Given the description of an element on the screen output the (x, y) to click on. 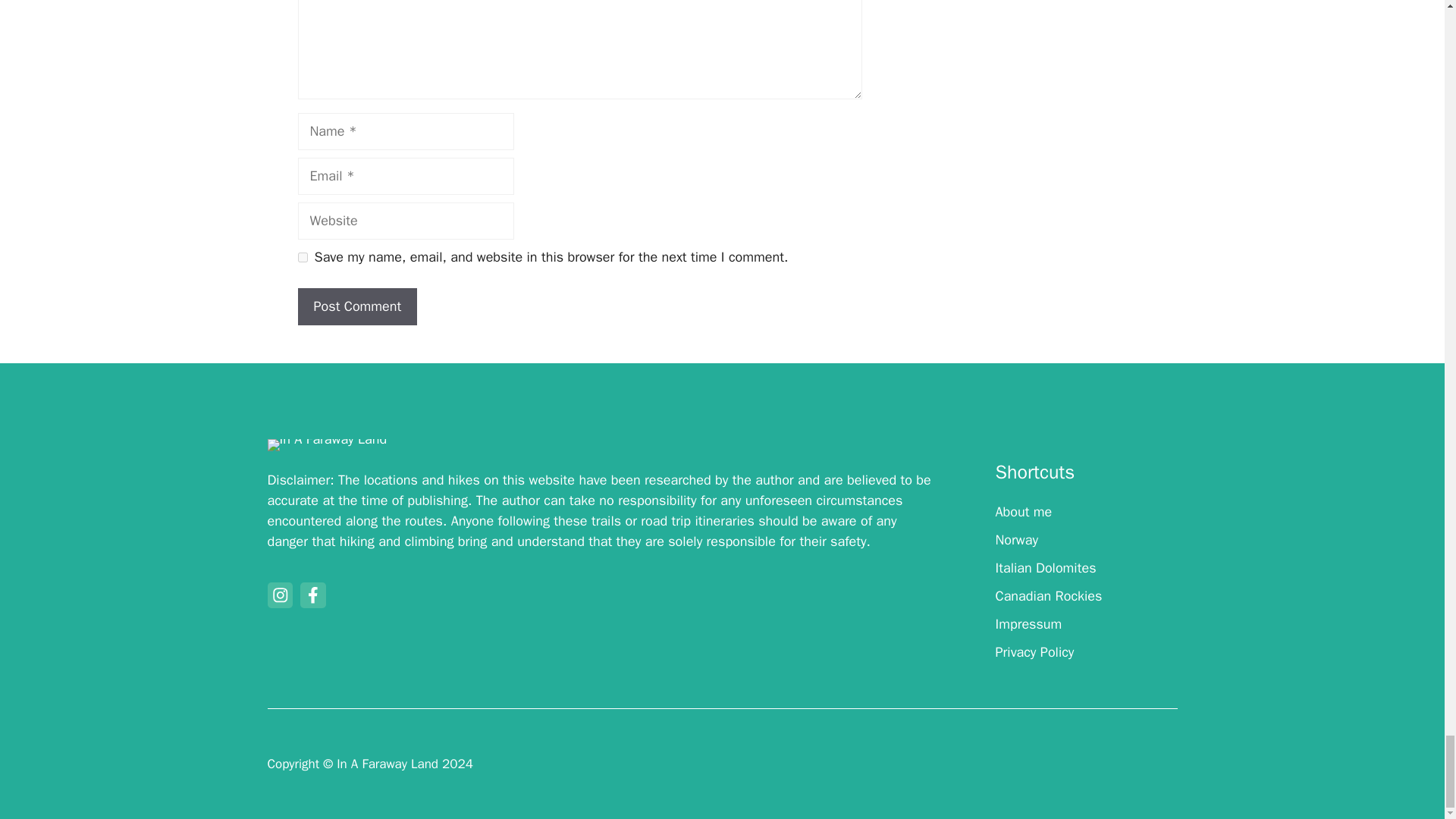
Post Comment (356, 306)
yes (302, 257)
